Given the description of an element on the screen output the (x, y) to click on. 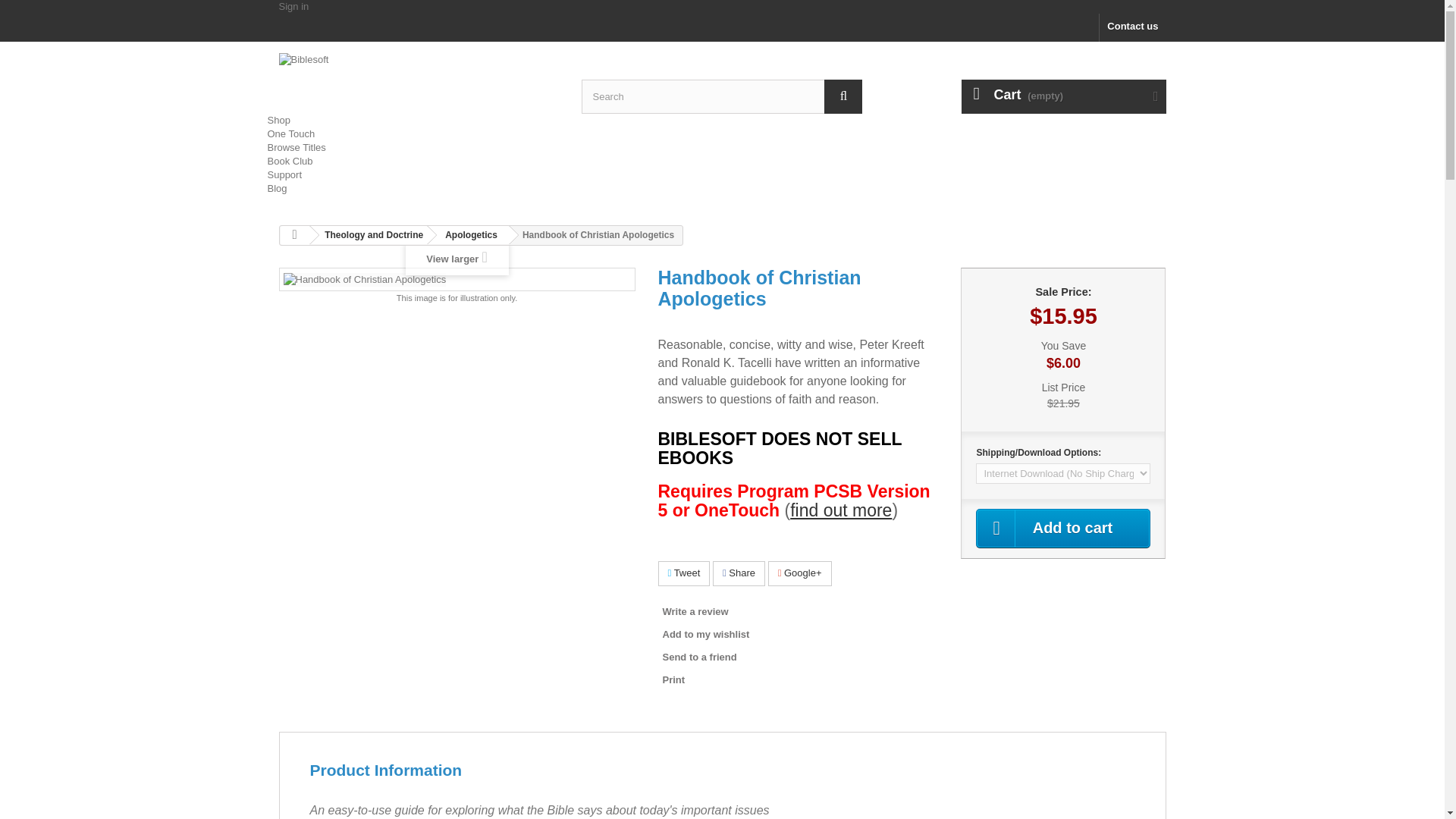
Apologetics (468, 235)
Send to a friend (697, 657)
Browse Titles (295, 147)
Shop (277, 120)
find out more (840, 510)
Biblesoft (419, 75)
Blog (276, 188)
View my shopping cart (1063, 96)
Sign in (293, 6)
One Touch (290, 133)
Contact Us (1132, 27)
Login to your customer account (293, 6)
Tweet (684, 573)
Return to Home (294, 235)
Write a review (693, 611)
